Given the description of an element on the screen output the (x, y) to click on. 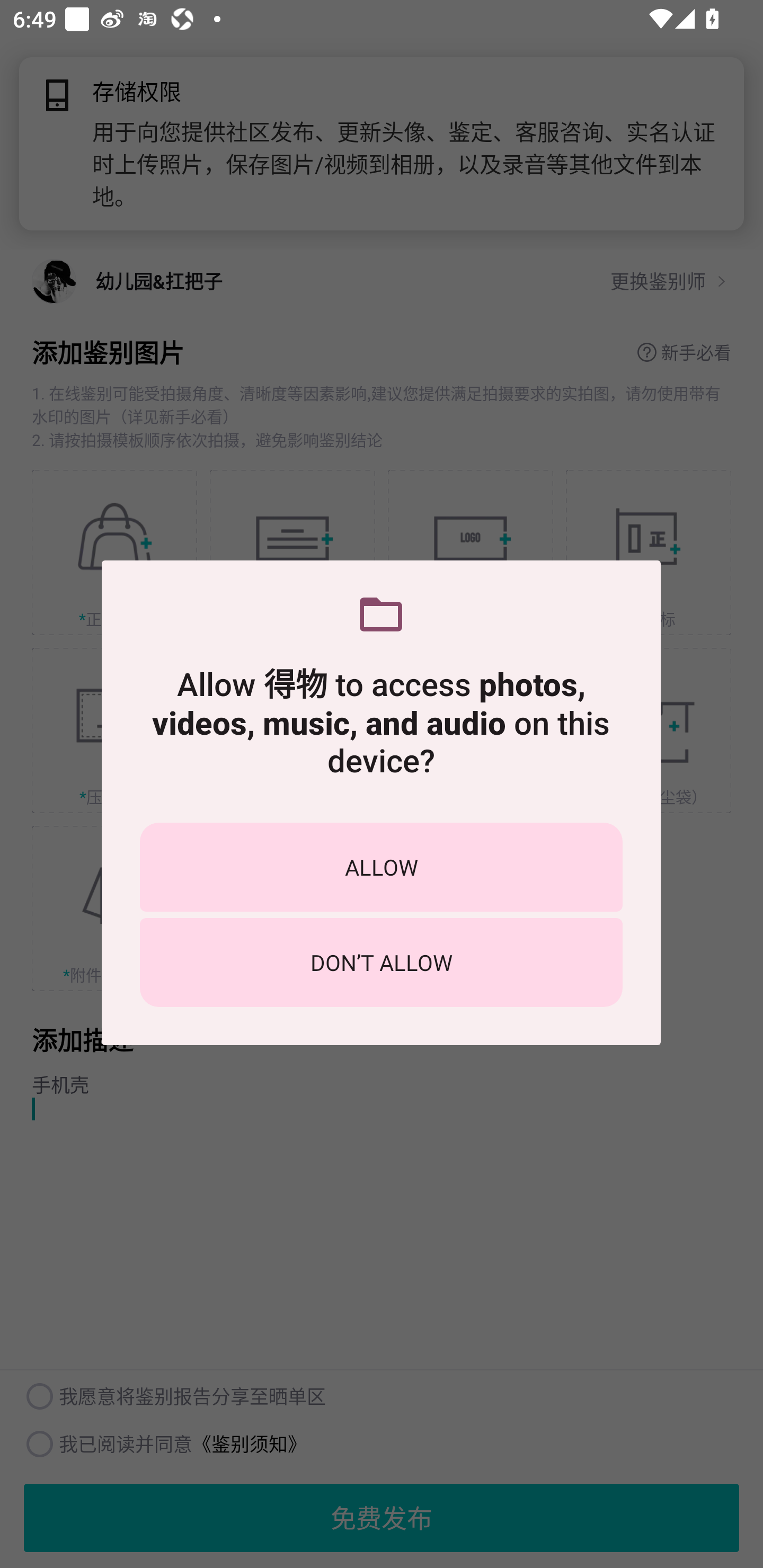
ALLOW (380, 867)
DON’T ALLOW (380, 961)
